Given the description of an element on the screen output the (x, y) to click on. 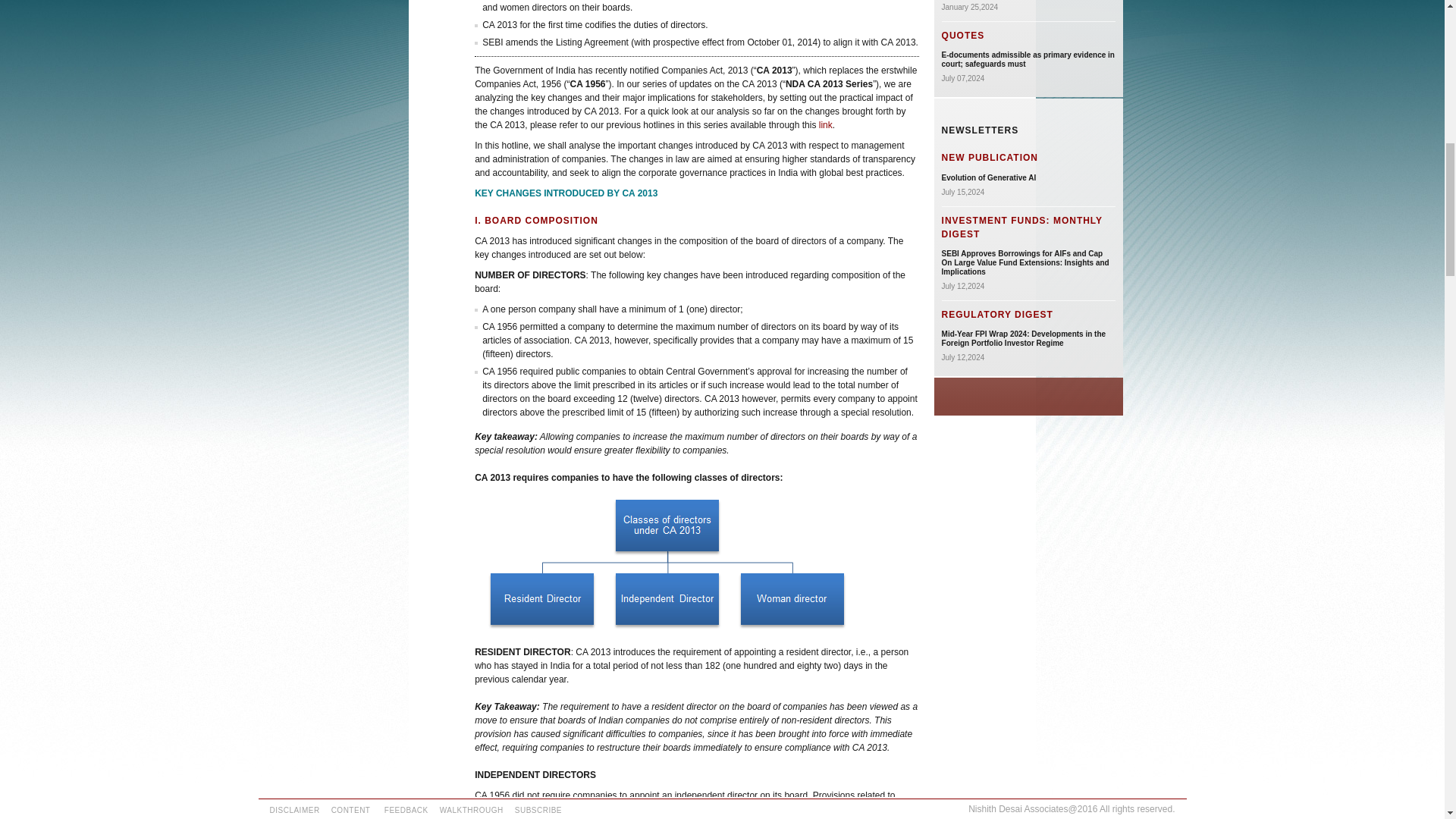
Evolution of Generative AI (989, 177)
